Given the description of an element on the screen output the (x, y) to click on. 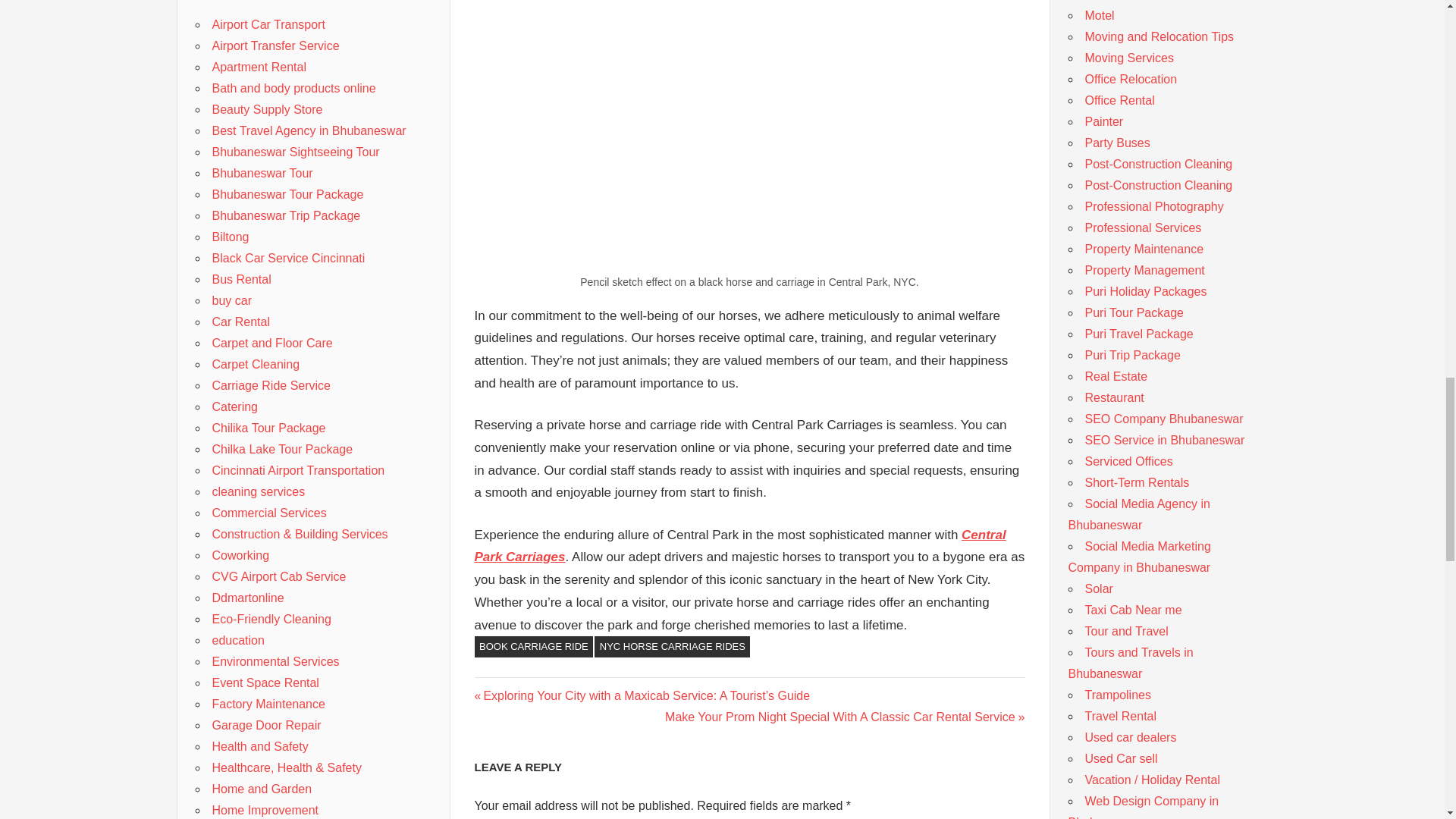
NYC HORSE CARRIAGE RIDES (671, 646)
Central Park Carriages (740, 546)
BOOK CARRIAGE RIDE (534, 646)
